Given the description of an element on the screen output the (x, y) to click on. 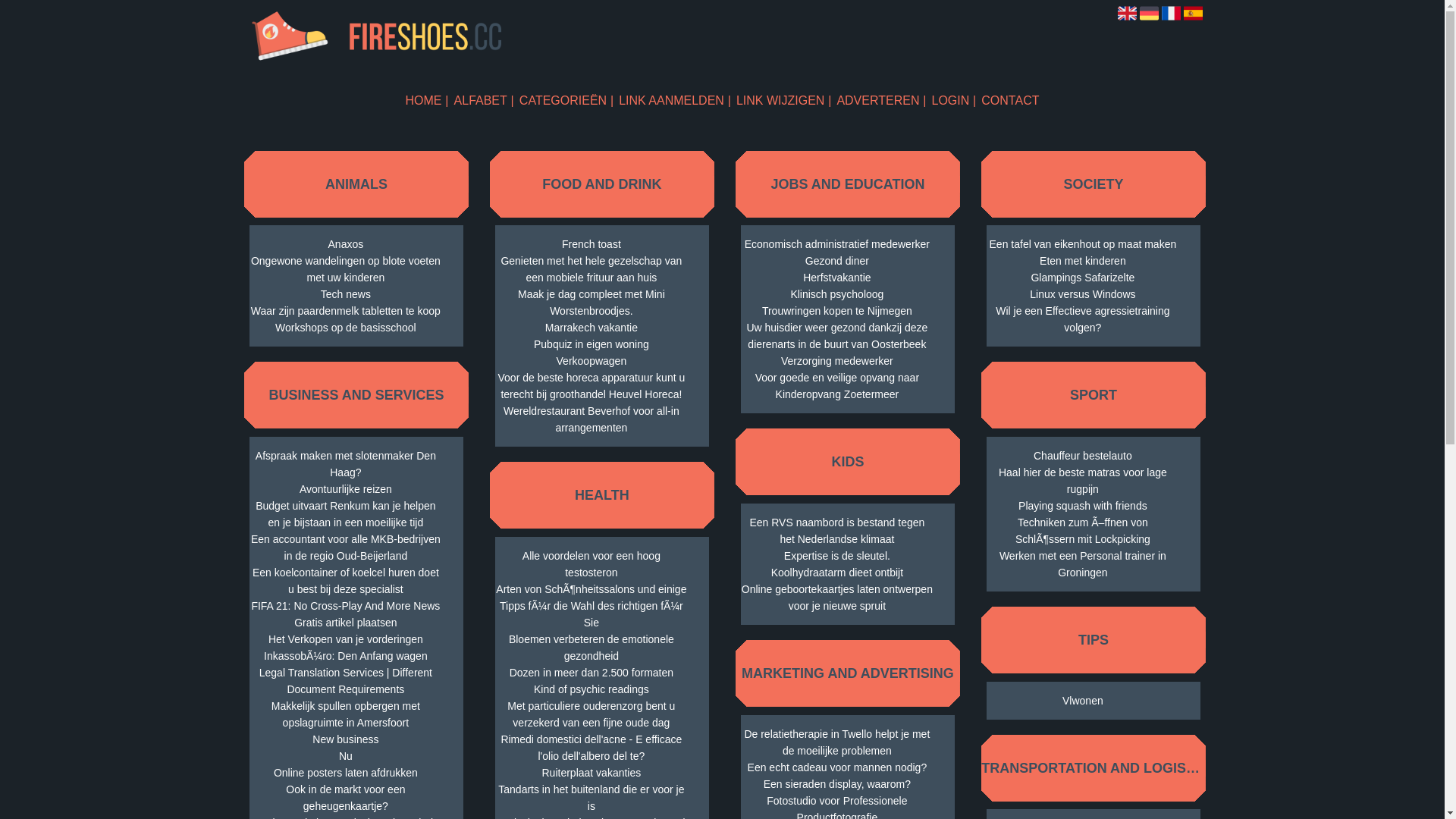
Makkelijk spullen opbergen met opslagruimte in Amersfoort Element type: text (345, 714)
LINK WIJZIGEN Element type: text (783, 100)
Wereldrestaurant Beverhof voor all-in arrangementen Element type: text (591, 419)
Workshops op de basisschool Element type: text (345, 327)
Pubquiz in eigen woning Element type: text (591, 343)
French toast Element type: text (591, 243)
Verzorging medewerker Element type: text (836, 360)
Voor goede en veilige opvang naar Kinderopvang Zoetermeer Element type: text (836, 385)
Koolhydraatarm dieet ontbijt Element type: text (836, 572)
Maak je dag compleet met Mini Worstenbroodjes. Element type: text (591, 302)
Ruiterplaat vakanties Element type: text (591, 772)
Herfstvakantie Element type: text (836, 277)
Chauffeur bestelauto Element type: text (1082, 455)
Anaxos Element type: text (345, 243)
Een echt cadeau voor mannen nodig? Element type: text (836, 767)
Wil je een Effectieve agressietraining volgen? Element type: text (1082, 318)
Alle voordelen voor een hoog testosteron Element type: text (591, 563)
Economisch administratief medewerker Element type: text (836, 243)
Gezond diner Element type: text (836, 260)
Vlwonen Element type: text (1082, 700)
Klinisch psycholoog Element type: text (836, 293)
HOME Element type: text (426, 100)
Nu Element type: text (345, 755)
Expertise is de sleutel. Element type: text (836, 555)
Ongewone wandelingen op blote voeten met uw kinderen Element type: text (345, 268)
Verkoopwagen Element type: text (591, 360)
LINK AANMELDEN Element type: text (674, 100)
Avontuurlijke reizen Element type: text (345, 488)
CONTACT Element type: text (1009, 100)
Online posters laten afdrukken Element type: text (345, 772)
Gratis artikel plaatsen Element type: text (345, 622)
Ook in de markt voor een geheugenkaartje? Element type: text (345, 797)
ALFABET Element type: text (484, 100)
Tech news Element type: text (345, 293)
New business Element type: text (345, 739)
Dozen in meer dan 2.500 formaten Element type: text (591, 672)
Linux versus Windows Element type: text (1082, 293)
Werken met een Personal trainer in Groningen Element type: text (1082, 563)
Eten met kinderen Element type: text (1082, 260)
Bloemen verbeteren de emotionele gezondheid Element type: text (591, 647)
Glampings Safarizelte Element type: text (1082, 277)
Kind of psychic readings Element type: text (591, 688)
LOGIN Element type: text (953, 100)
Het Verkopen van je vorderingen Element type: text (345, 638)
Afspraak maken met slotenmaker Den Haag? Element type: text (345, 463)
Tandarts in het buitenland die er voor je is Element type: text (591, 797)
FIFA 21: No Cross-Play And More News Element type: text (345, 605)
Trouwringen kopen te Nijmegen Element type: text (836, 310)
Playing squash with friends Element type: text (1082, 505)
Haal hier de beste matras voor lage rugpijn Element type: text (1082, 480)
ADVERTEREN Element type: text (880, 100)
Een RVS naambord is bestand tegen het Nederlandse klimaat Element type: text (836, 530)
Waar zijn paardenmelk tabletten te koop Element type: text (345, 310)
Legal Translation Services | Different Document Requirements Element type: text (345, 680)
Een tafel van eikenhout op maat maken Element type: text (1082, 243)
Een sieraden display, waarom? Element type: text (836, 783)
Marrakech vakantie Element type: text (591, 327)
